Given the description of an element on the screen output the (x, y) to click on. 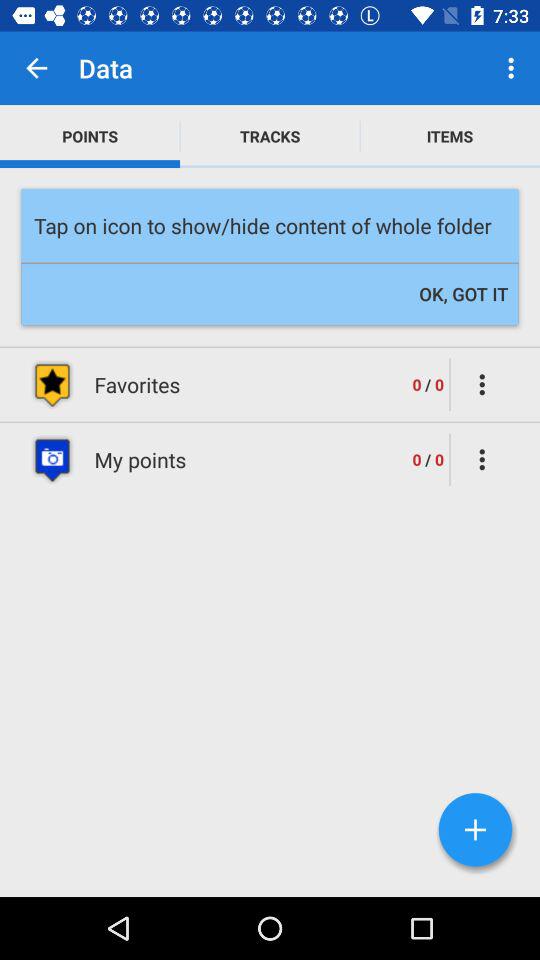
choose icon above the tap on icon item (270, 136)
